Given the description of an element on the screen output the (x, y) to click on. 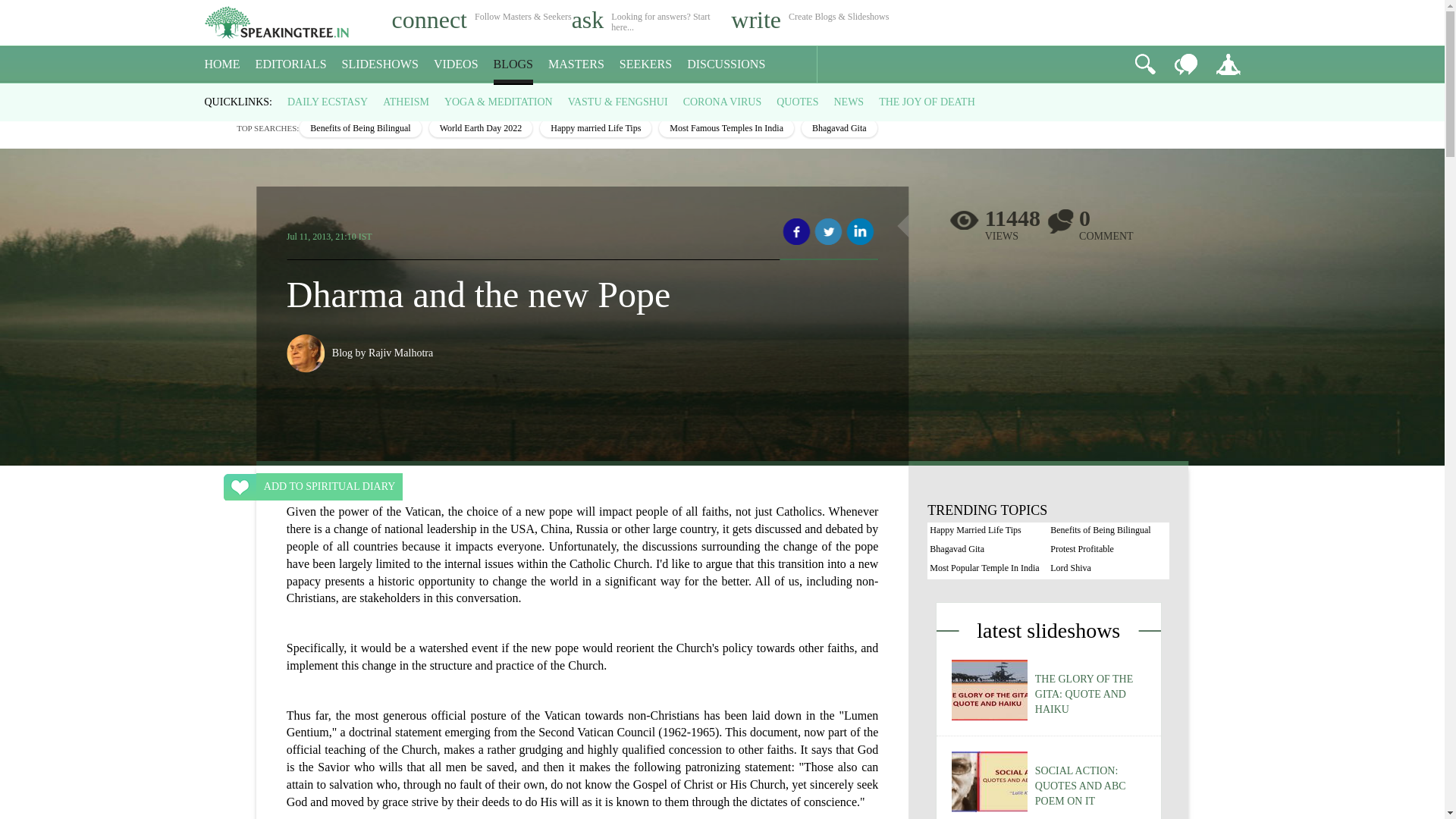
DAILY ECSTASY (327, 101)
Share on Facebook (796, 231)
DISCUSSIONS (726, 64)
Share on LinkedIn (860, 231)
THE JOY OF DEATH (927, 101)
Share on Twitter (828, 231)
QUOTES (797, 101)
NEWS (847, 101)
Speaking Tree (216, 96)
EDITORIALS (291, 64)
